Given the description of an element on the screen output the (x, y) to click on. 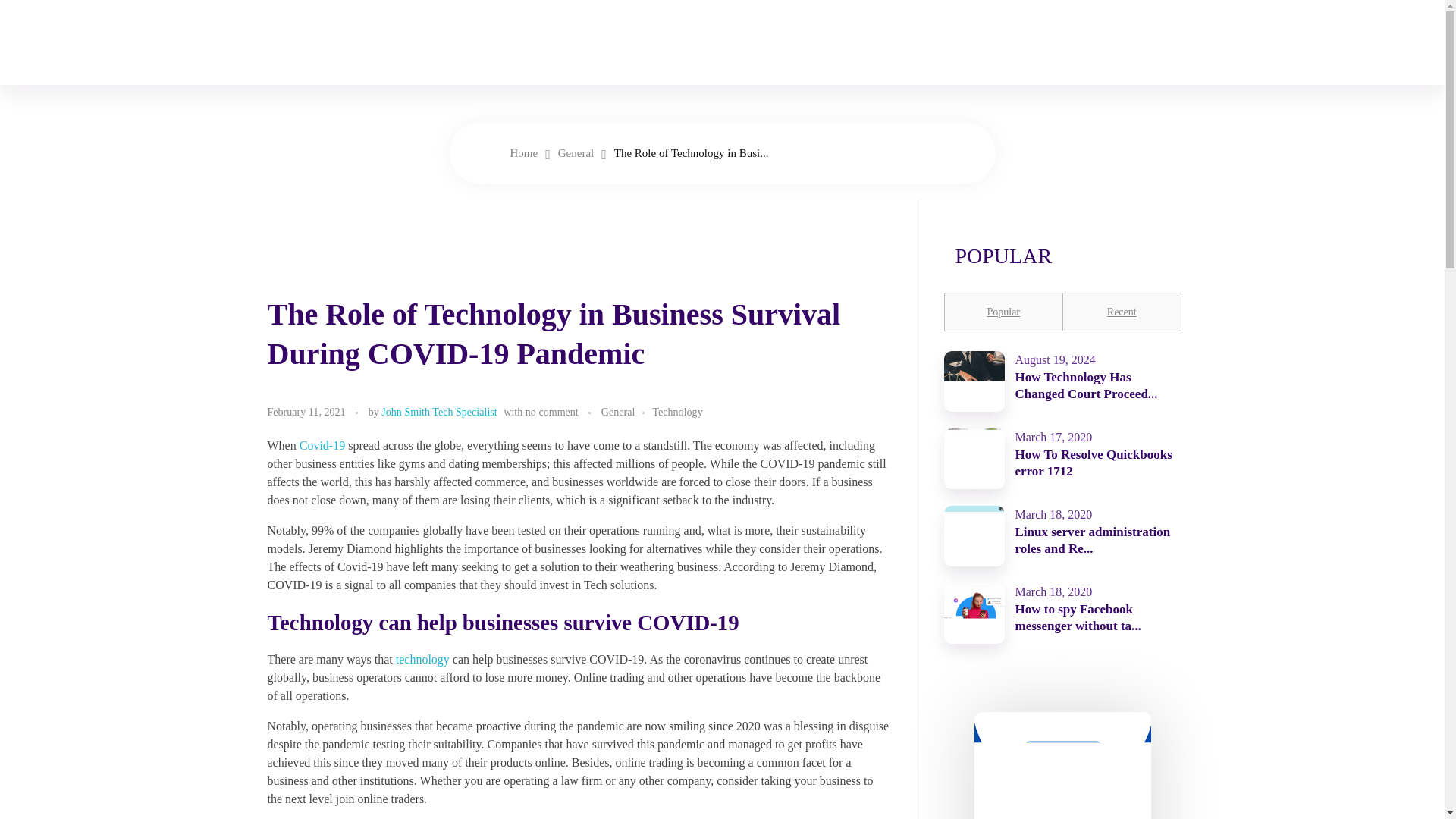
Recent (1121, 311)
General (626, 412)
View all posts by John Smith Tech Specialist (438, 411)
General (575, 152)
Home (523, 152)
General (575, 152)
Home (523, 152)
technology (422, 658)
Technology (676, 412)
View all posts in General (626, 412)
